Given the description of an element on the screen output the (x, y) to click on. 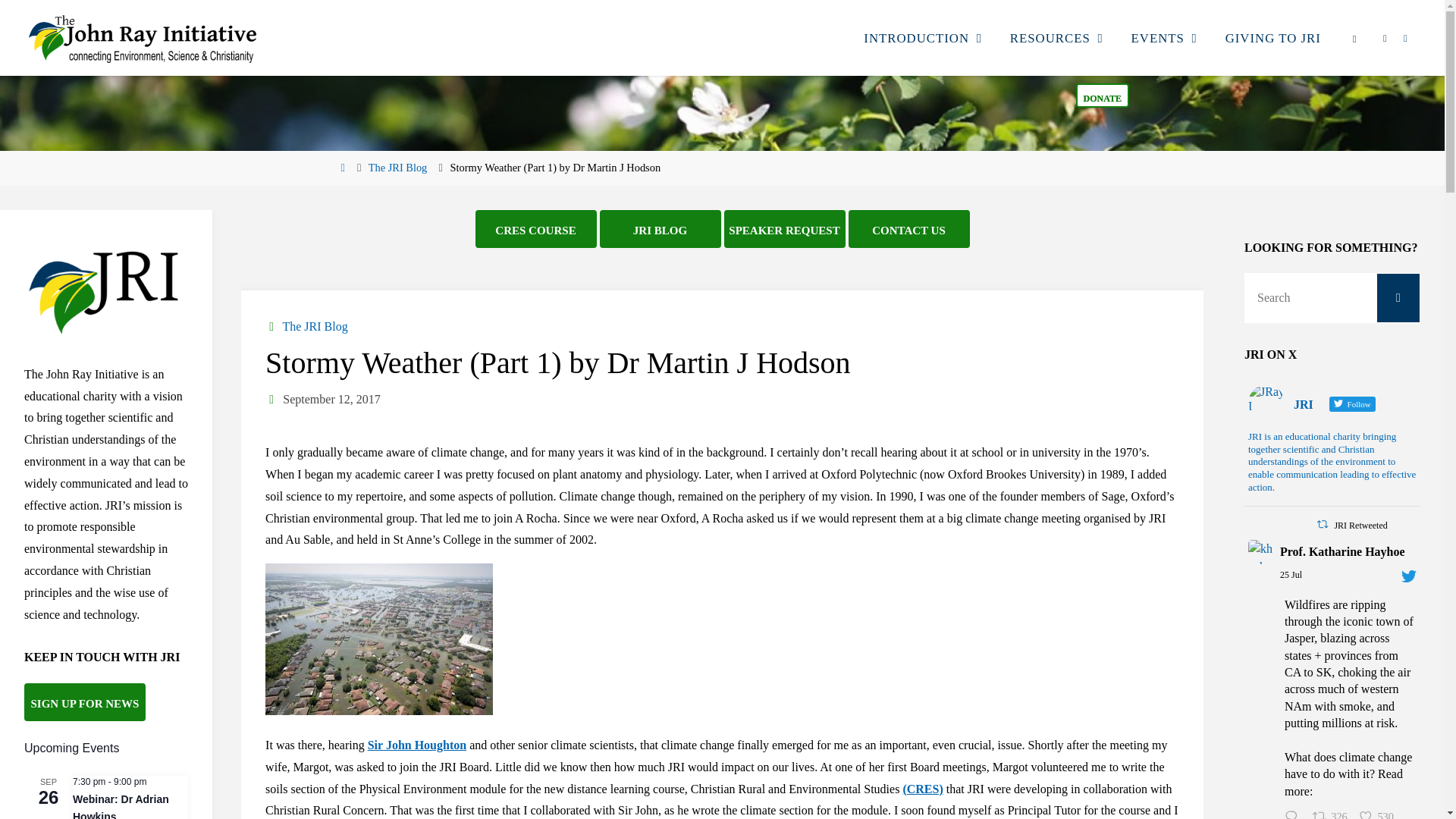
The John Ray Initiative (142, 37)
Webinar: Dr Adrian Howkins (120, 806)
INTRODUCTION (916, 38)
Categories (271, 326)
Date (271, 399)
